Given the description of an element on the screen output the (x, y) to click on. 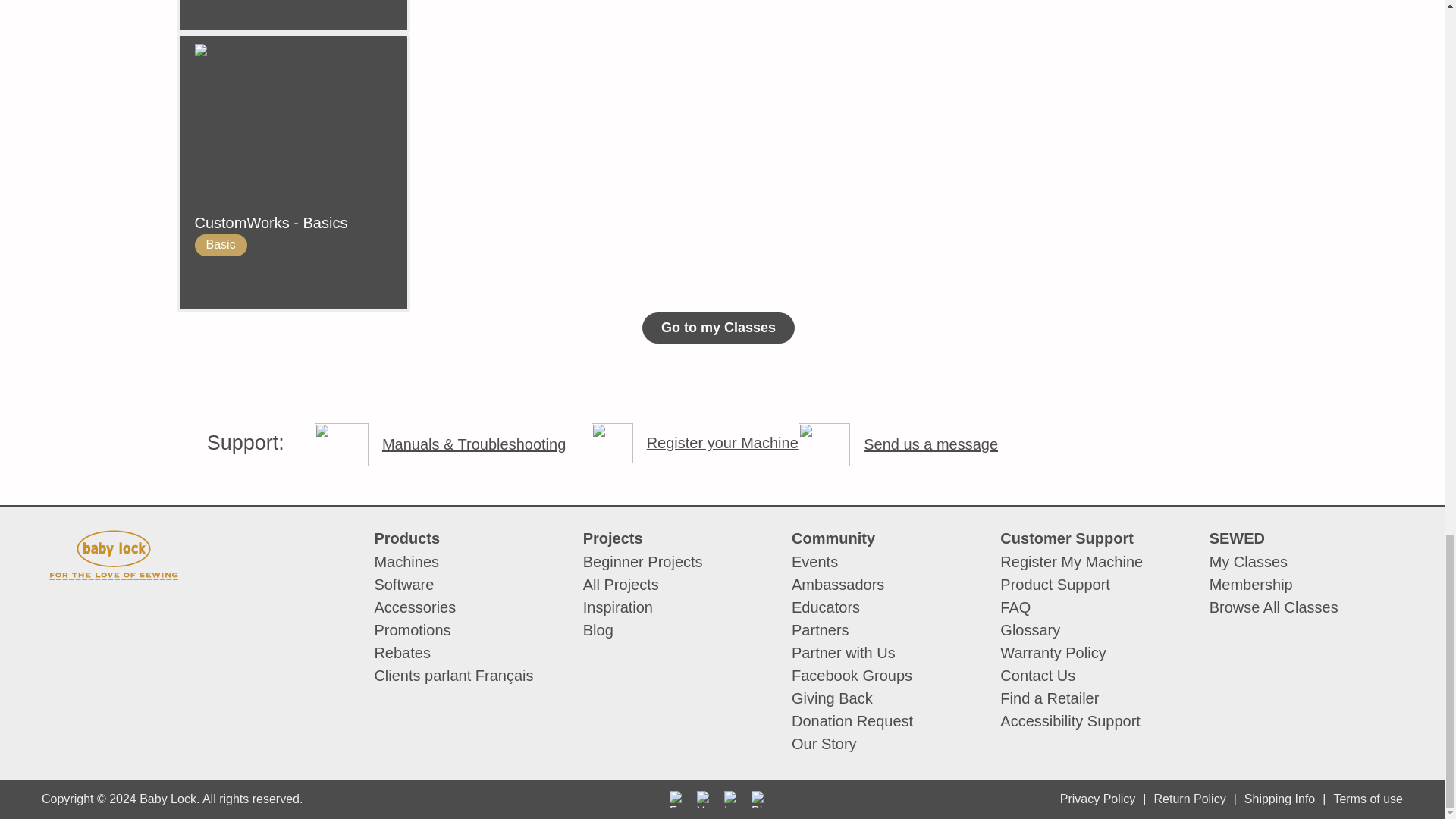
CustomWorks - Basics (292, 223)
 Facebook (677, 799)
